Given the description of an element on the screen output the (x, y) to click on. 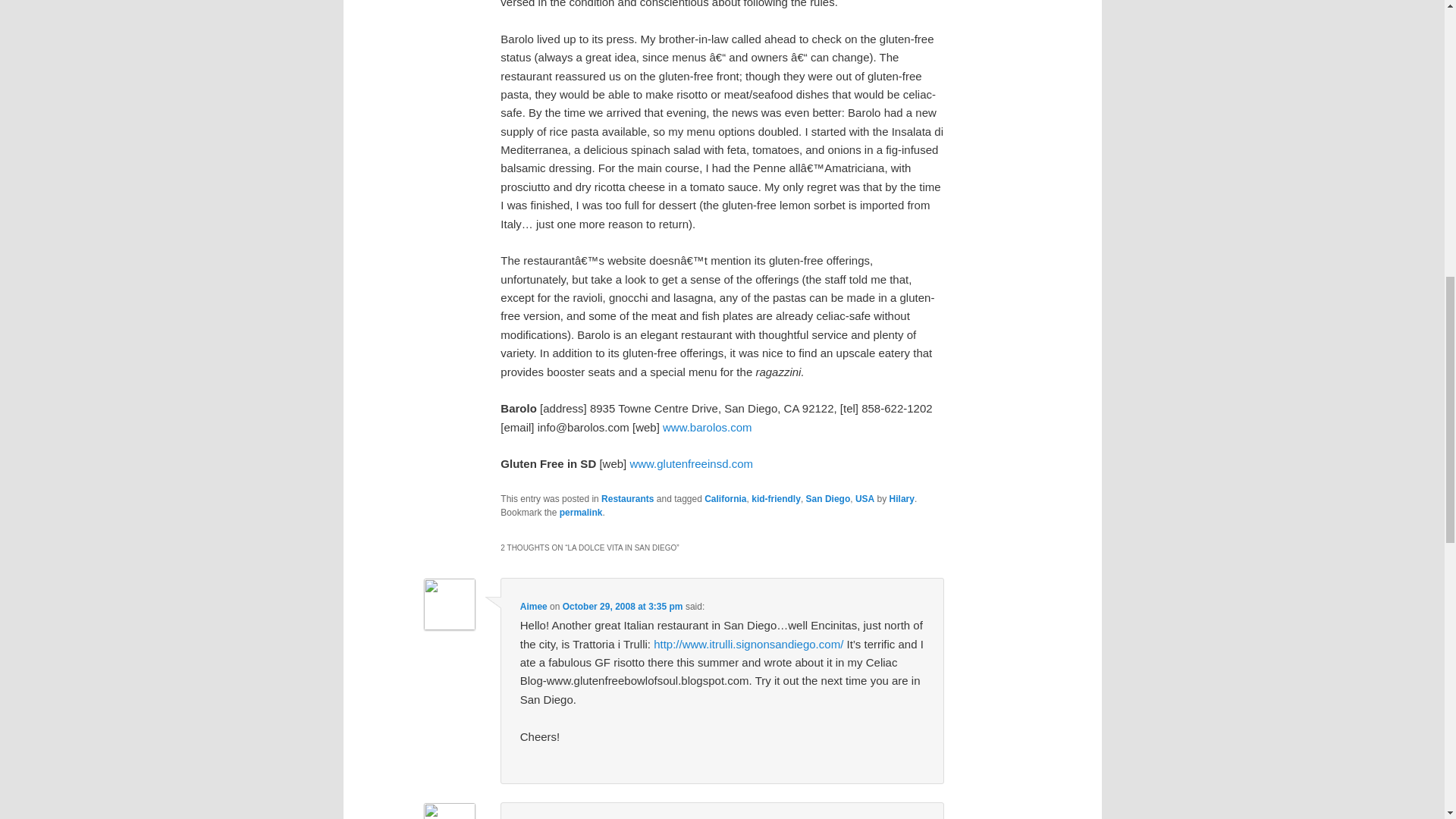
San Diego (828, 498)
California (724, 498)
www.barolos.com (707, 427)
Restaurants (627, 498)
permalink (580, 511)
Aimee (533, 606)
October 29, 2008 at 3:35 pm (622, 606)
USA (865, 498)
kid-friendly (775, 498)
Permalink to La Dolce Vita in San Diego (580, 511)
